Given the description of an element on the screen output the (x, y) to click on. 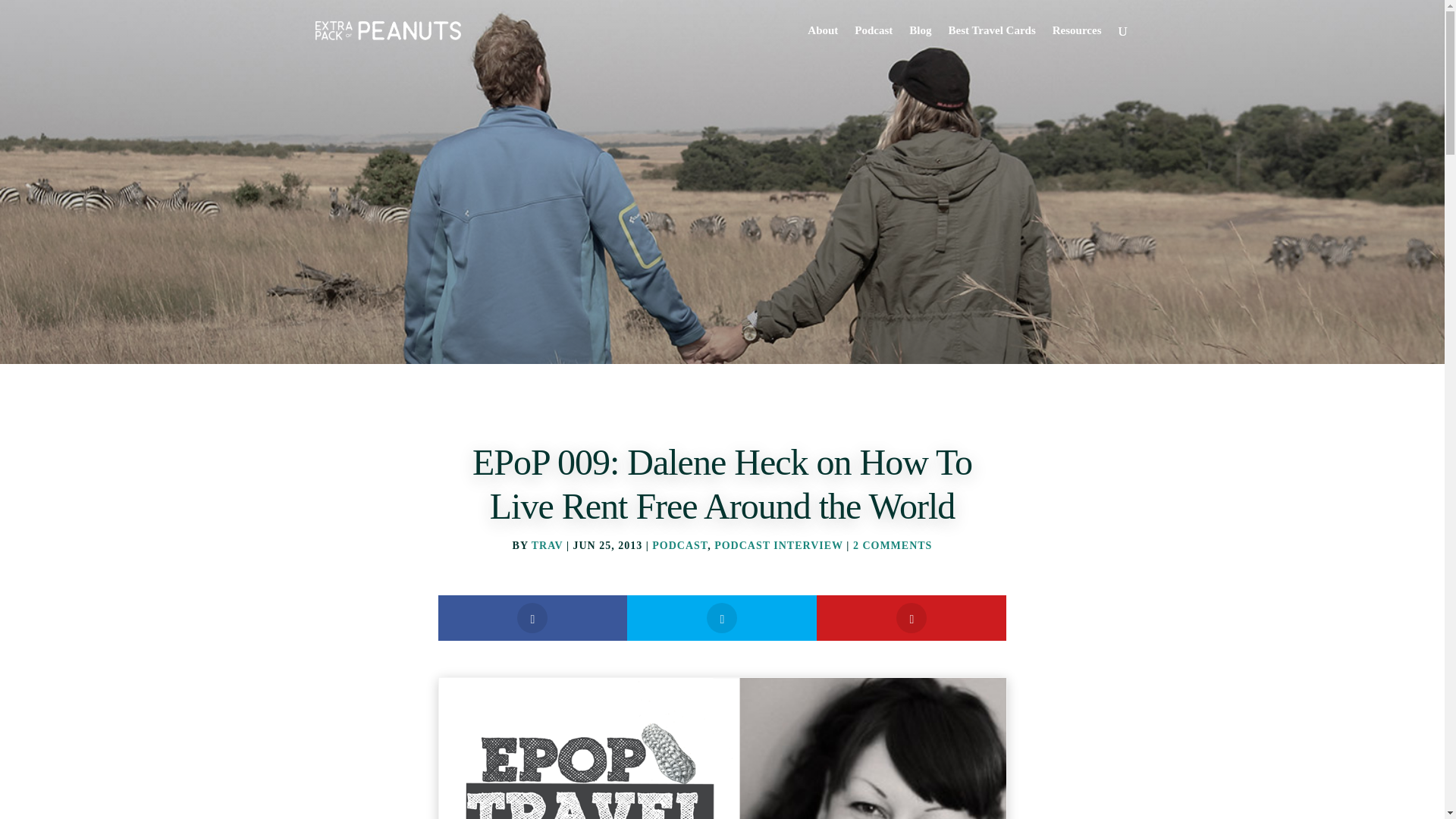
2 COMMENTS (893, 545)
TRAV (547, 545)
PODCAST INTERVIEW (778, 545)
Best Travel Cards (991, 43)
Podcast (873, 43)
Posts by Trav (547, 545)
PODCAST (679, 545)
Resources (1077, 43)
